Given the description of an element on the screen output the (x, y) to click on. 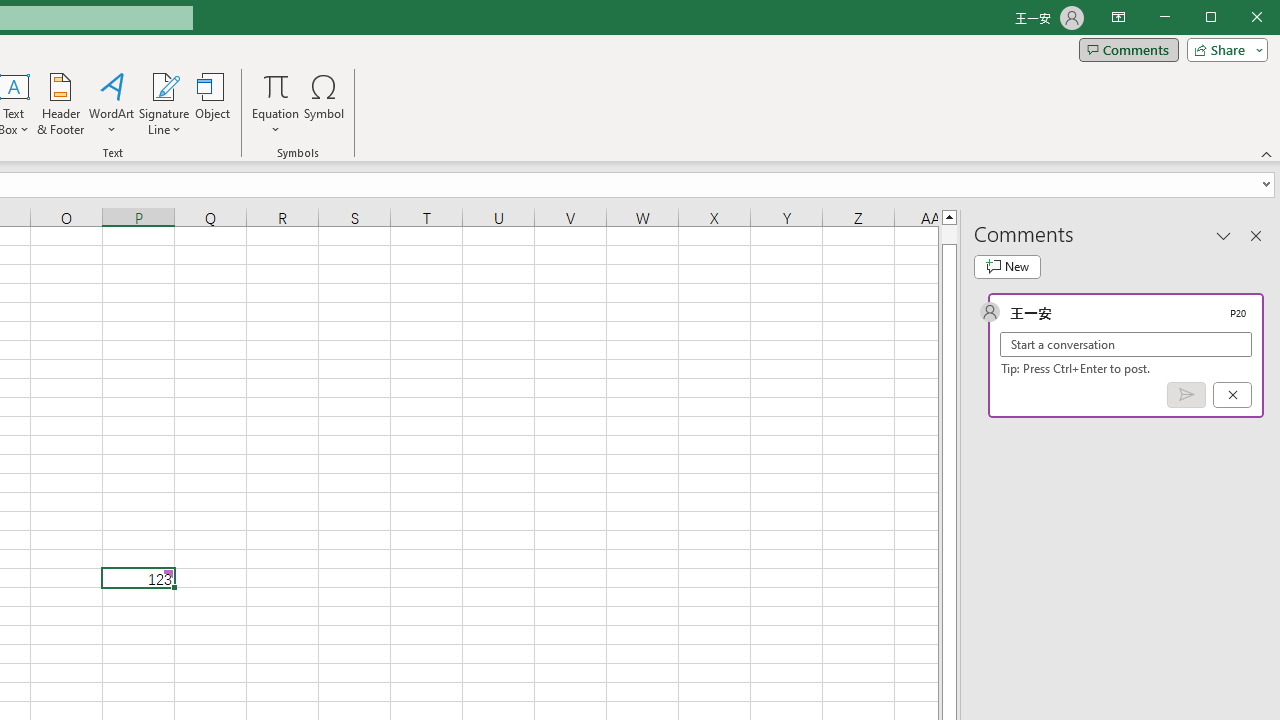
Signature Line (164, 104)
Cancel (1232, 395)
WordArt (111, 104)
Page up (948, 234)
Signature Line (164, 86)
New comment (1007, 266)
